Given the description of an element on the screen output the (x, y) to click on. 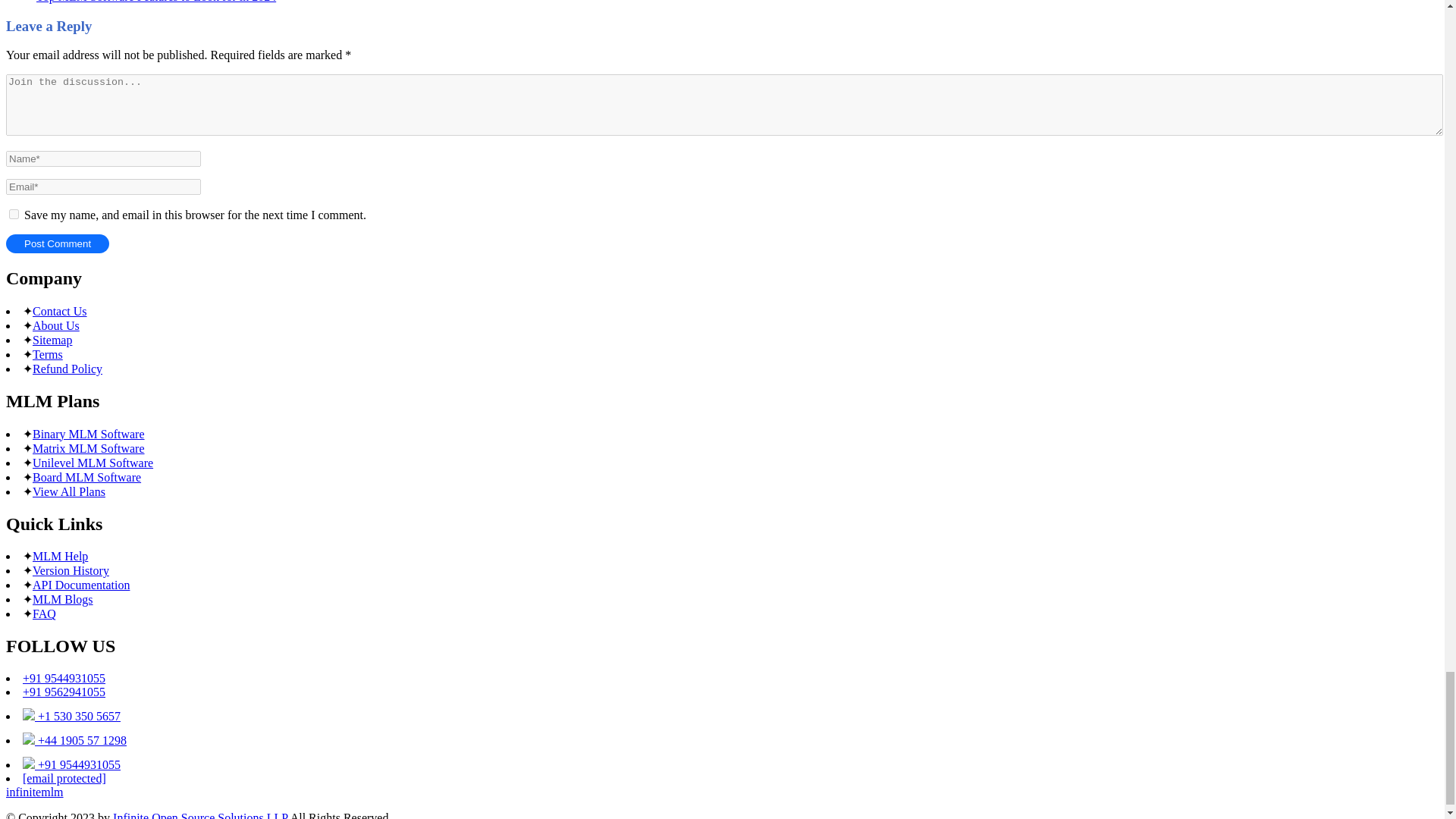
Post Comment (57, 243)
yes (13, 214)
